Given the description of an element on the screen output the (x, y) to click on. 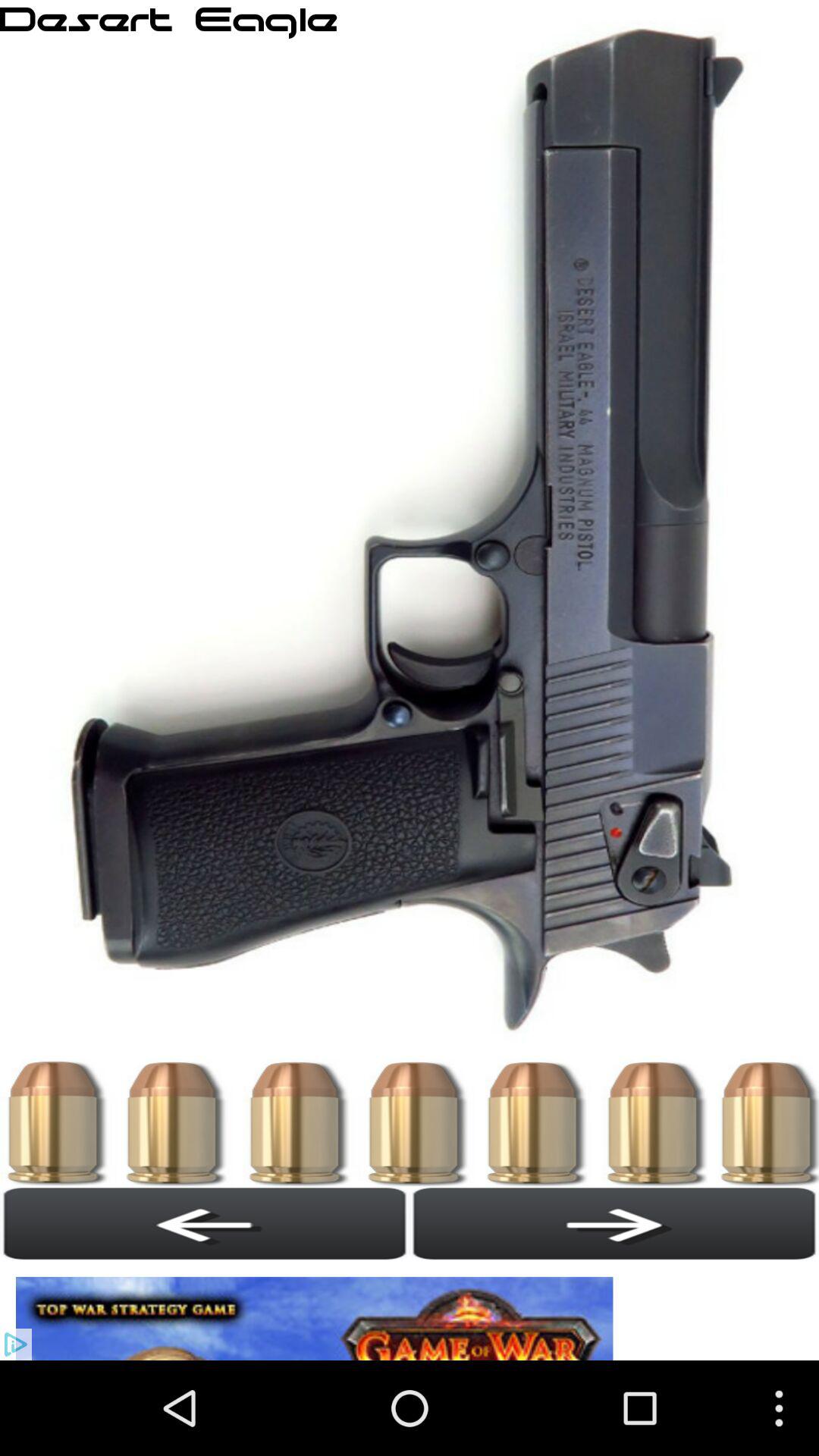
advance (614, 1223)
